Given the description of an element on the screen output the (x, y) to click on. 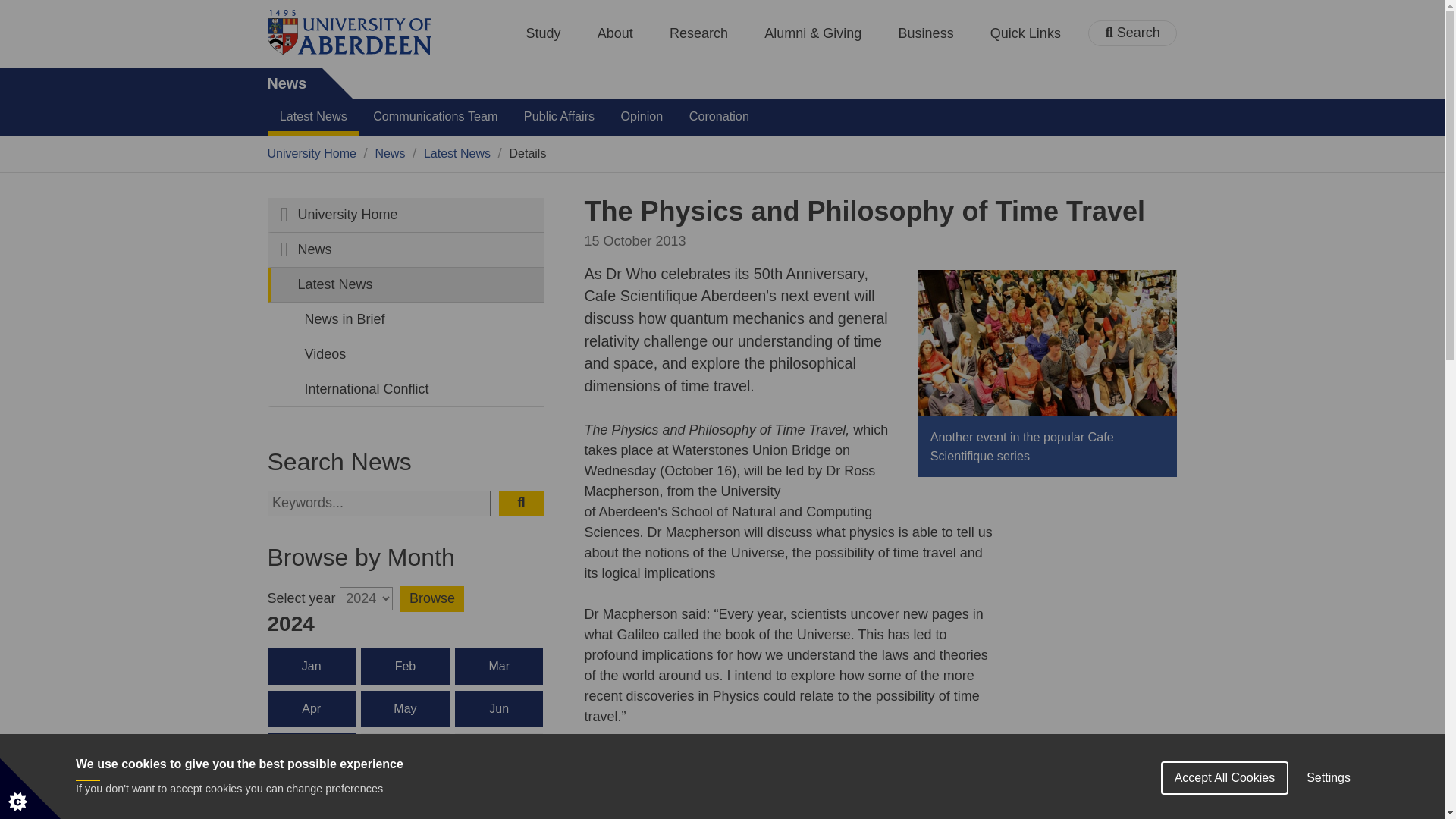
Accept All Cookies (1224, 815)
Settings (1328, 812)
View items for February 2024 (404, 666)
View items for March 2024 (498, 666)
View items for April 2024 (311, 709)
View items for January 2024 (311, 666)
About (614, 33)
View items for June 2024 (498, 709)
Another event in the popular Cafe Scientifique series (1046, 343)
View items for July 2024 (311, 750)
View items for May 2024 (404, 709)
Study (542, 33)
